Given the description of an element on the screen output the (x, y) to click on. 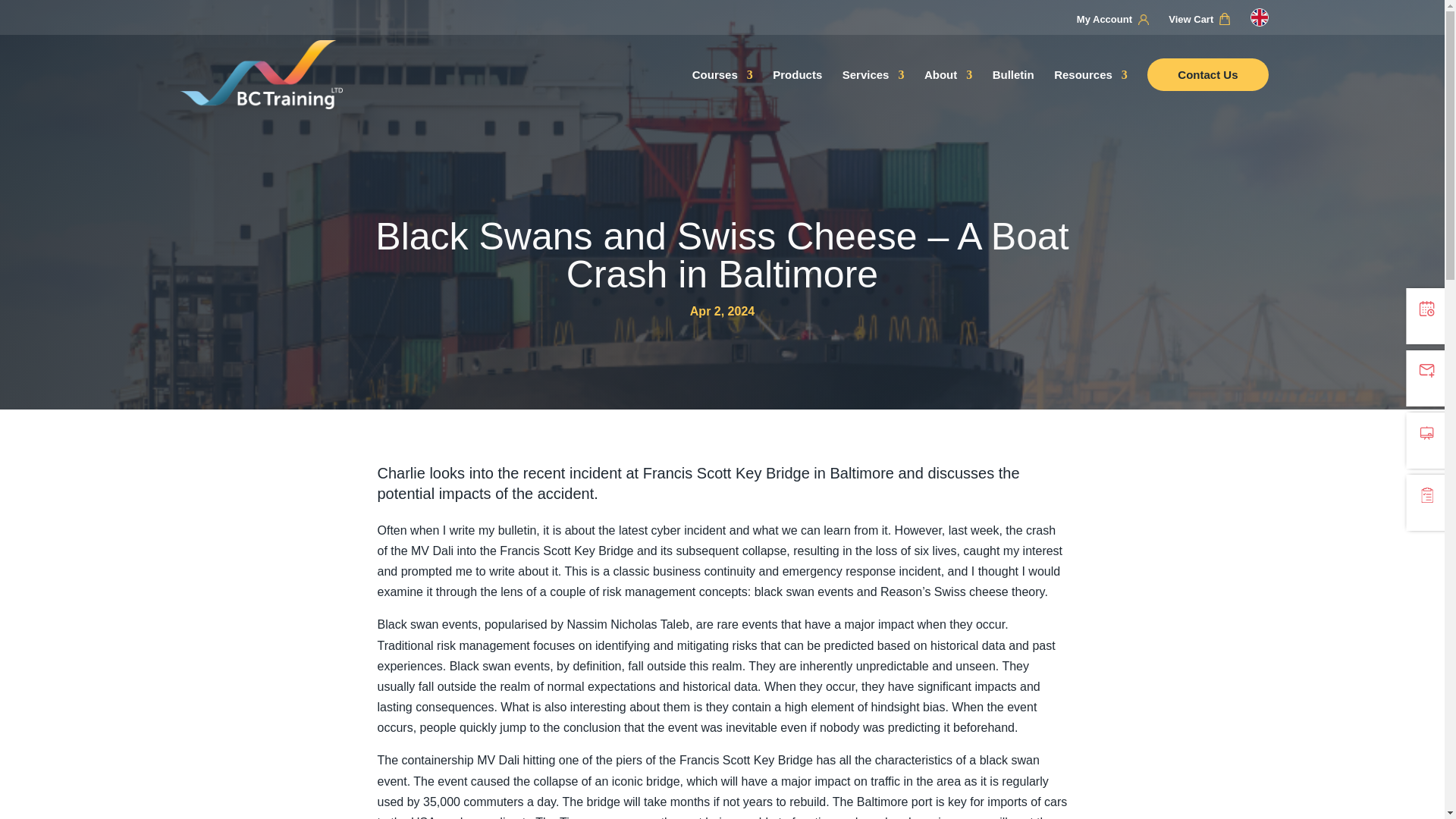
My Account (1115, 21)
View Cart (1202, 20)
Bulletin (1012, 92)
About (948, 92)
Resources (1090, 92)
Products (797, 92)
Courses (722, 92)
Services (873, 92)
Contact Us (1207, 92)
